Given the description of an element on the screen output the (x, y) to click on. 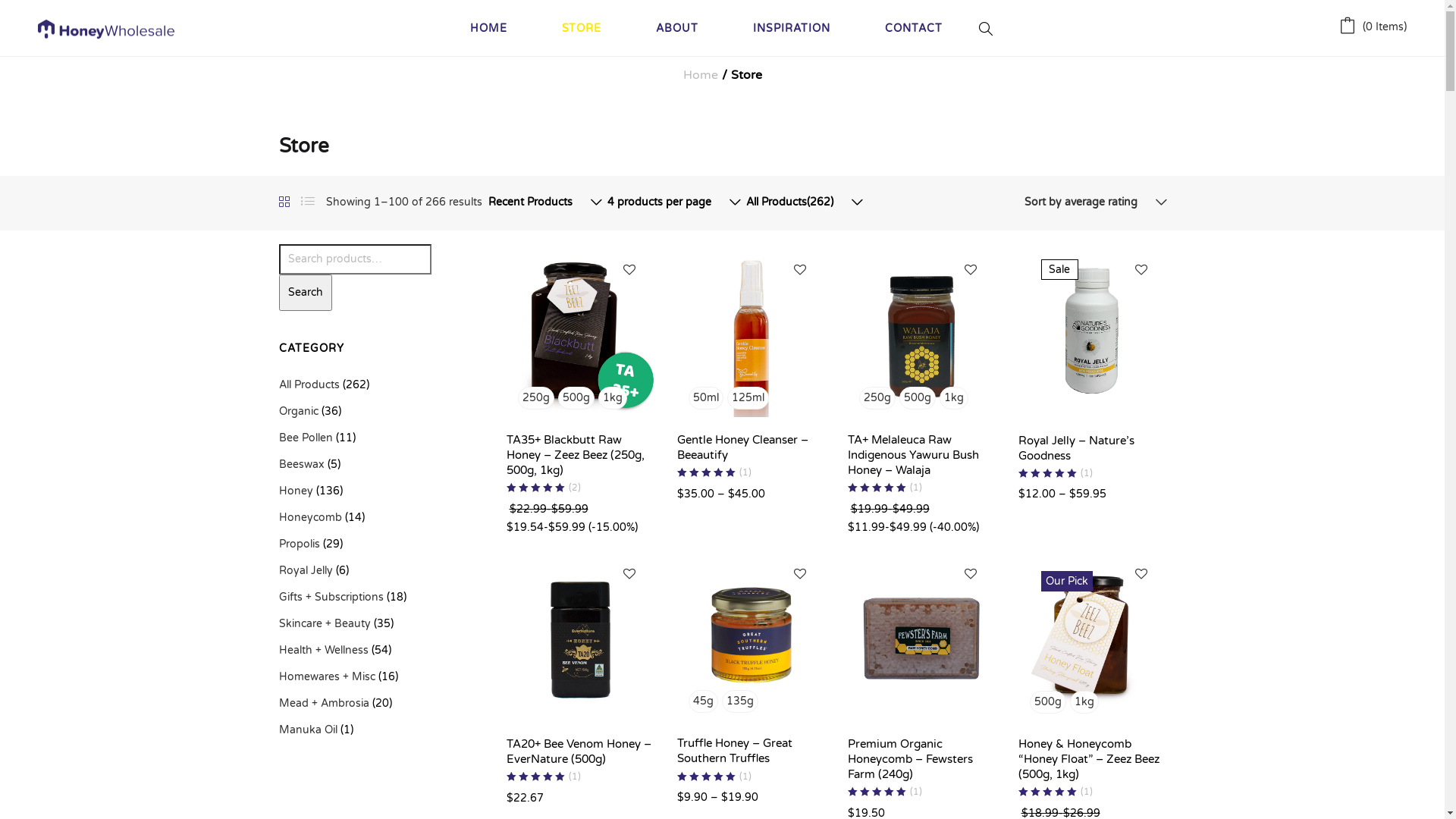
1kg Element type: text (611, 397)
Propolis Element type: text (299, 543)
250g Element type: text (535, 397)
1kg Element type: text (952, 397)
Royal Jelly Element type: text (305, 570)
Health + Wellness Element type: text (323, 649)
Bee Pollen Element type: text (305, 437)
(0 Items) Element type: text (1372, 27)
Skincare + Beauty Element type: text (324, 623)
Gifts + Subscriptions Element type: text (331, 596)
250g Element type: text (876, 397)
500g Element type: text (917, 397)
Home Element type: text (699, 74)
45g Element type: text (703, 701)
All Products Element type: text (309, 384)
Our Pick Element type: text (1091, 633)
INSPIRATION Element type: text (791, 28)
500g Element type: text (1047, 701)
grid Element type: text (284, 203)
STORE Element type: text (581, 28)
500g Element type: text (576, 397)
1kg Element type: text (1083, 701)
HOME Element type: text (488, 28)
Search Element type: text (305, 292)
CONTACT Element type: text (913, 28)
List Element type: hover (306, 202)
Organic Element type: text (298, 410)
Homewares + Misc Element type: text (327, 676)
ABOUT Element type: text (677, 28)
135g Element type: text (739, 701)
Honeycomb Element type: text (310, 517)
Mead + Ambrosia Element type: text (324, 702)
50ml Element type: text (705, 397)
Beeswax Element type: text (301, 464)
Manuka Oil Element type: text (308, 729)
Honey Element type: text (296, 490)
list Element type: text (306, 202)
Grid Element type: hover (284, 203)
125ml Element type: text (747, 397)
